Given the description of an element on the screen output the (x, y) to click on. 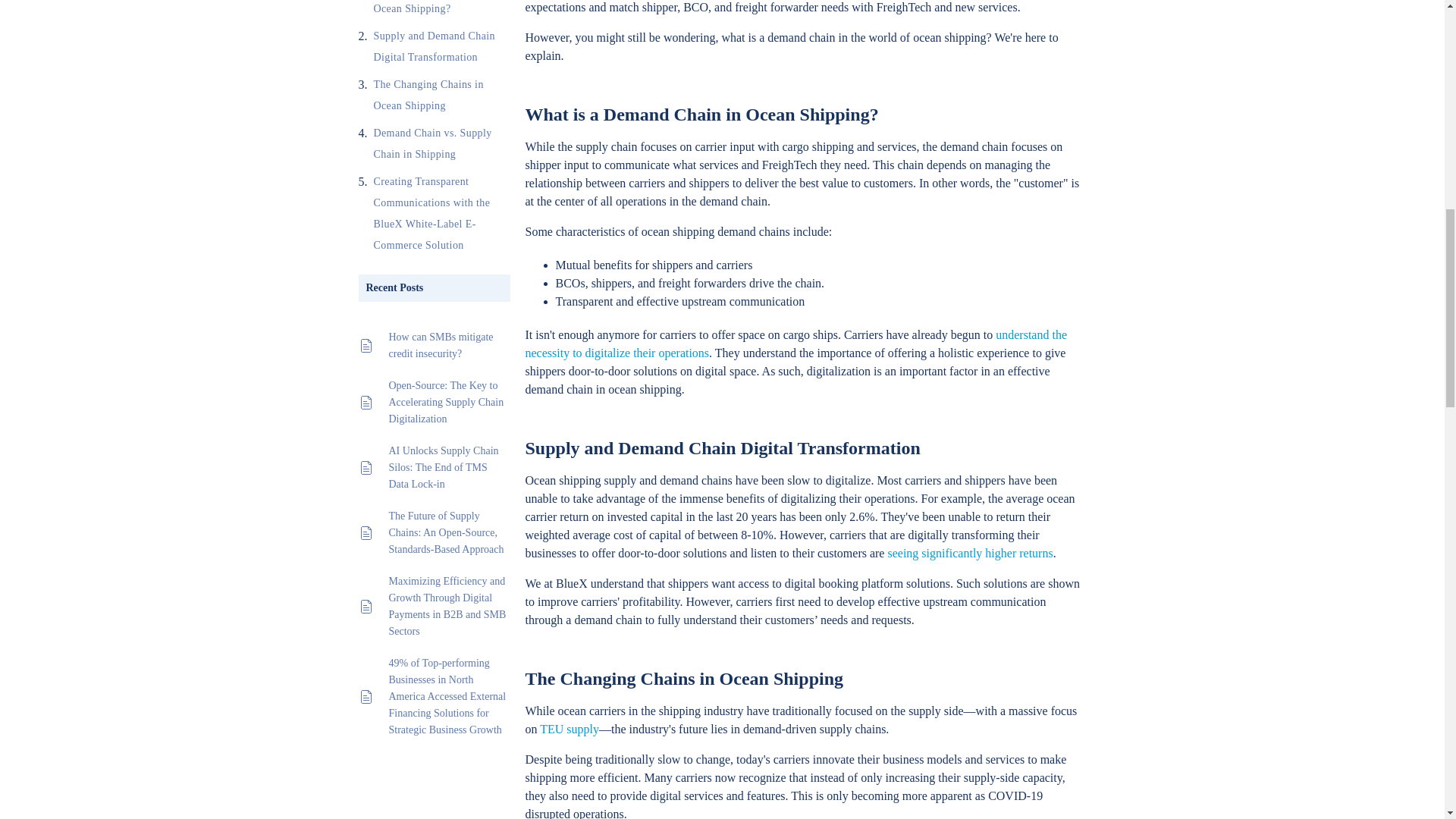
Supply and Demand Chain Digital Transformation (440, 46)
Demand Chain vs. Supply Chain in Shipping (440, 143)
Demand Chain vs. Supply Chain in Shipping (440, 143)
AI Unlocks Supply Chain Silos: The End of TMS Data Lock-in (448, 468)
What is a Demand Chain in Ocean Shipping? (440, 9)
How can SMBs mitigate credit insecurity? (448, 345)
seeing significantly higher returns (969, 553)
The Changing Chains in Ocean Shipping (440, 95)
What is a Demand Chain in Ocean Shipping? (440, 9)
understand the necessity to digitalize their operations (795, 343)
TEU supply (569, 728)
